Given the description of an element on the screen output the (x, y) to click on. 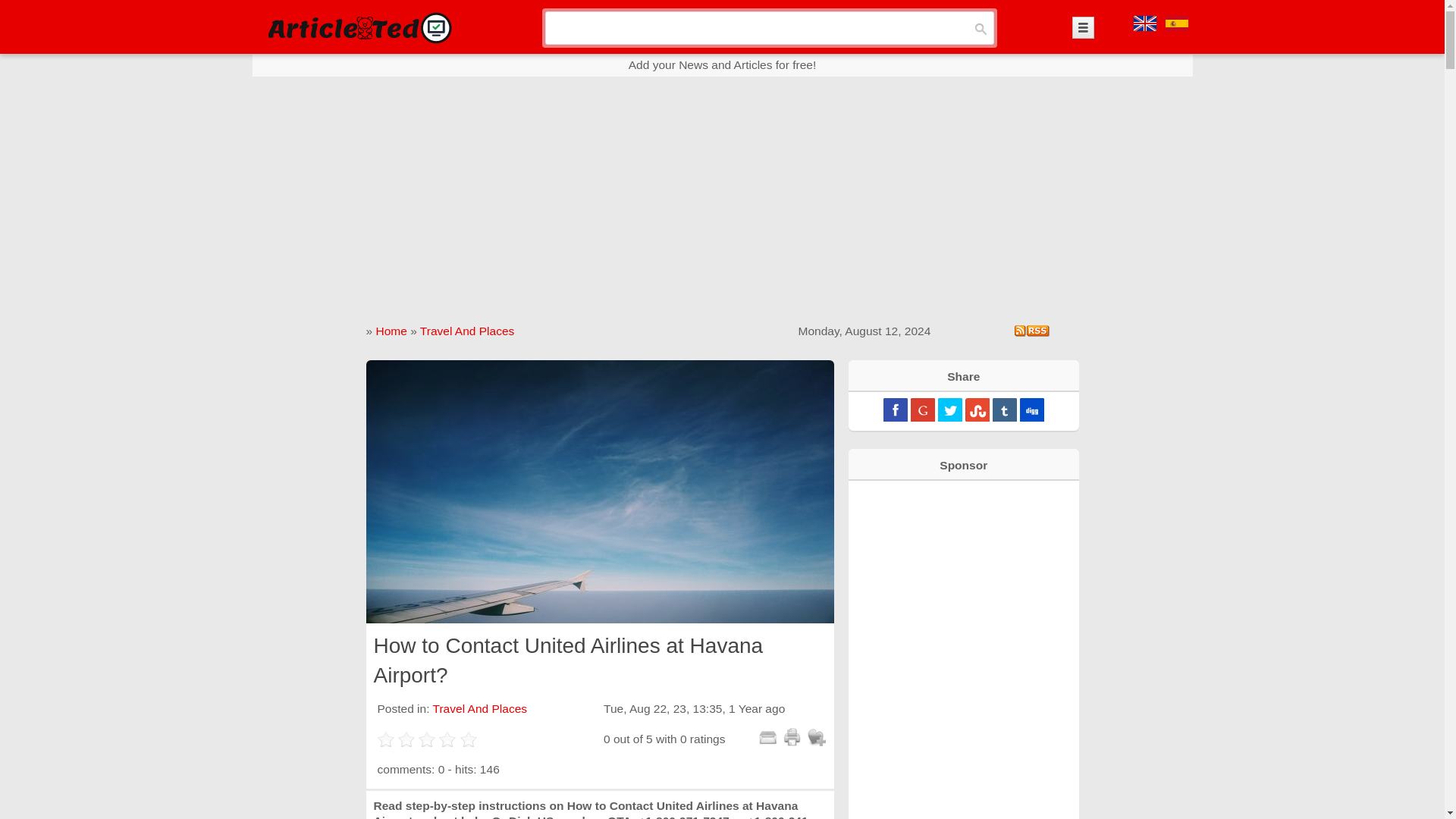
Travel And Places (466, 330)
How to Contact United Airlines at Havana Airport? (598, 491)
Travel And Places (479, 707)
ArticleTed -  News and Articles (357, 27)
Home (390, 330)
